Given the description of an element on the screen output the (x, y) to click on. 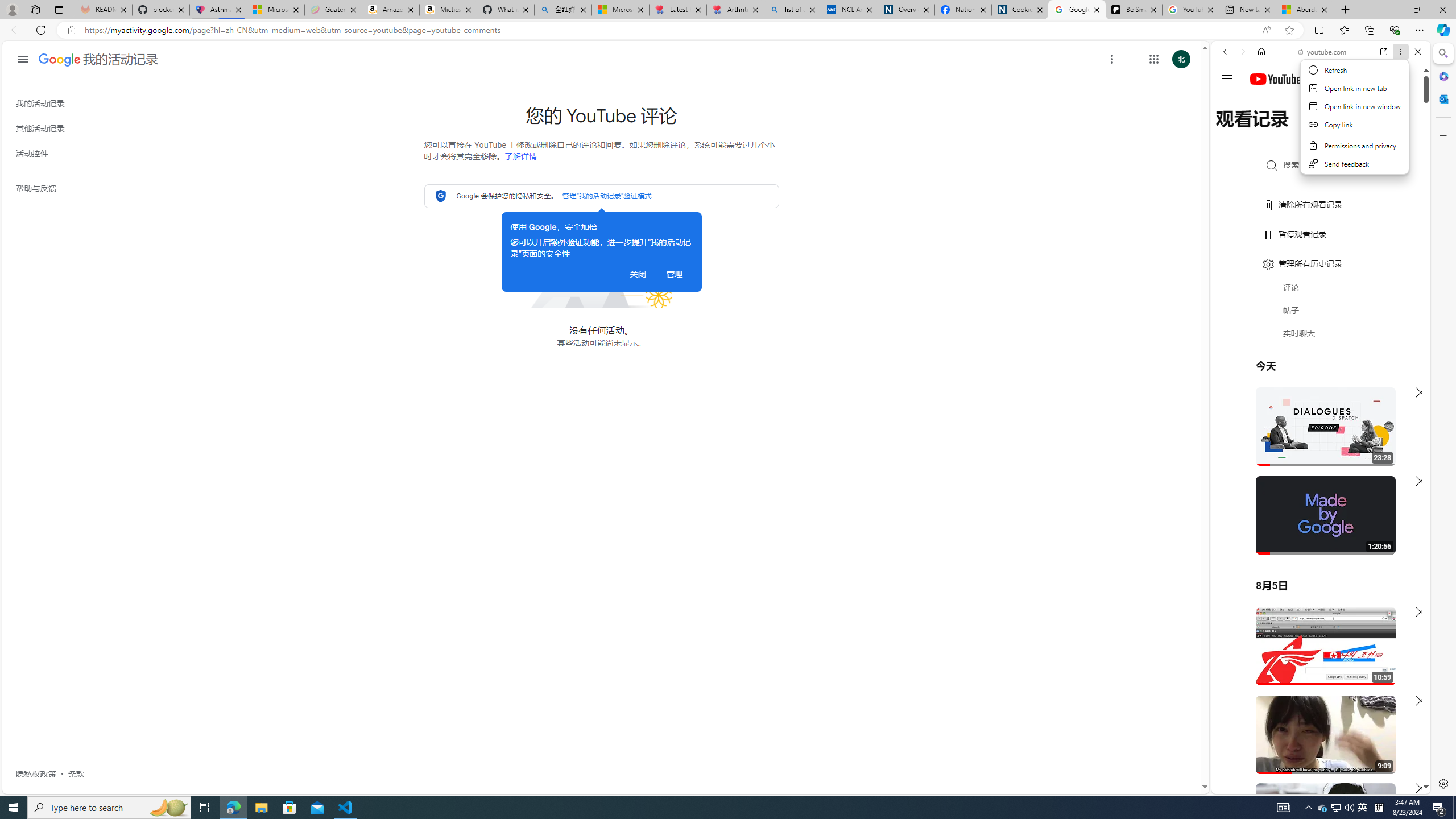
Search Filter, IMAGES (1262, 129)
Search Filter, Search Tools (1350, 129)
Microsoft-Report a Concern to Bing (274, 9)
Music (1320, 309)
Side bar (1443, 418)
Be Smart | creating Science videos | Patreon (1133, 9)
